Given the description of an element on the screen output the (x, y) to click on. 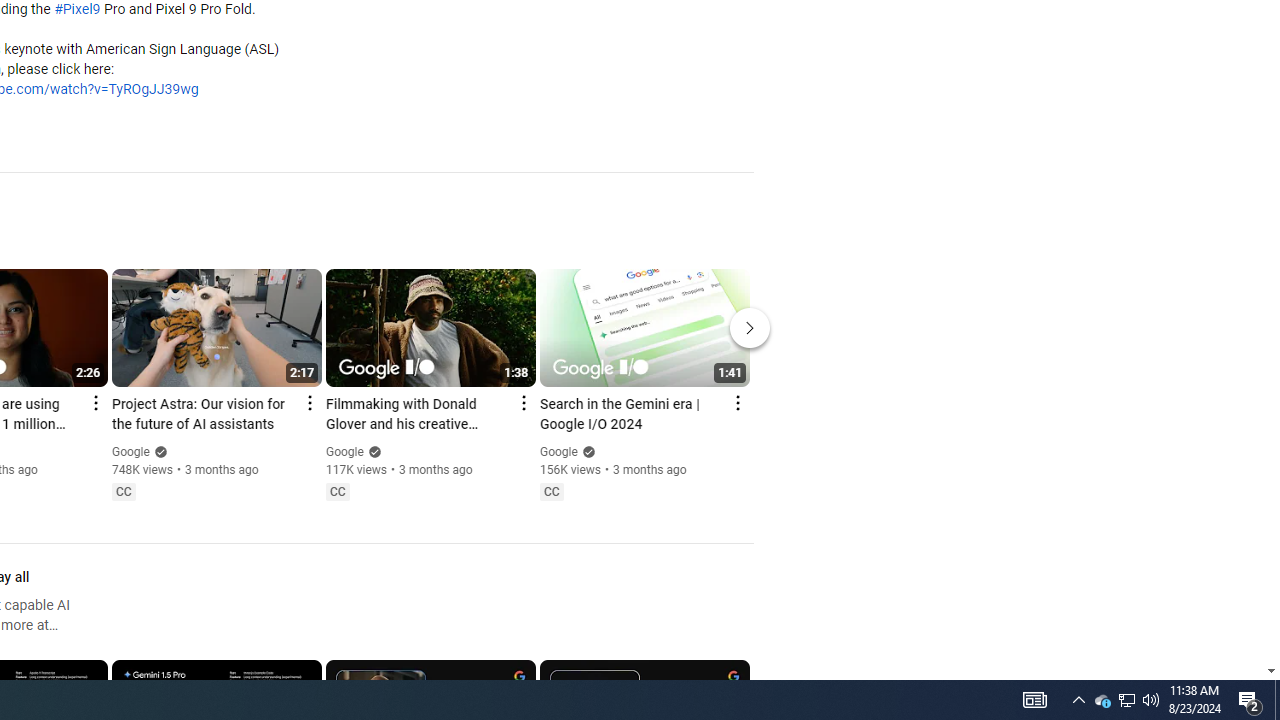
Closed captions (551, 492)
#Pixel9 (77, 10)
Action menu (736, 403)
Google (558, 451)
Verified (586, 451)
Next (749, 327)
